Given the description of an element on the screen output the (x, y) to click on. 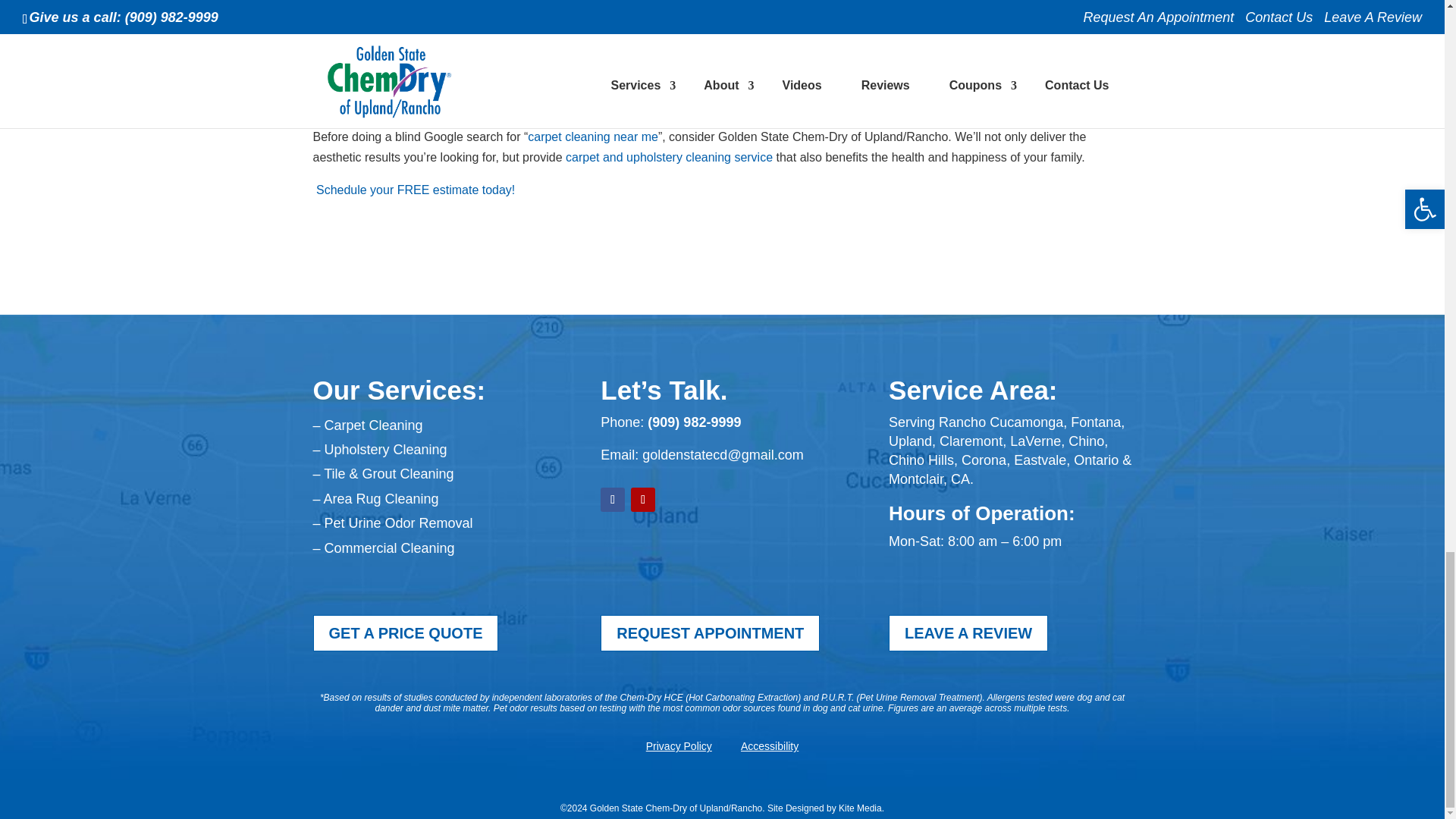
Follow on Yelp (642, 499)
Follow on Facebook (611, 499)
